Given the description of an element on the screen output the (x, y) to click on. 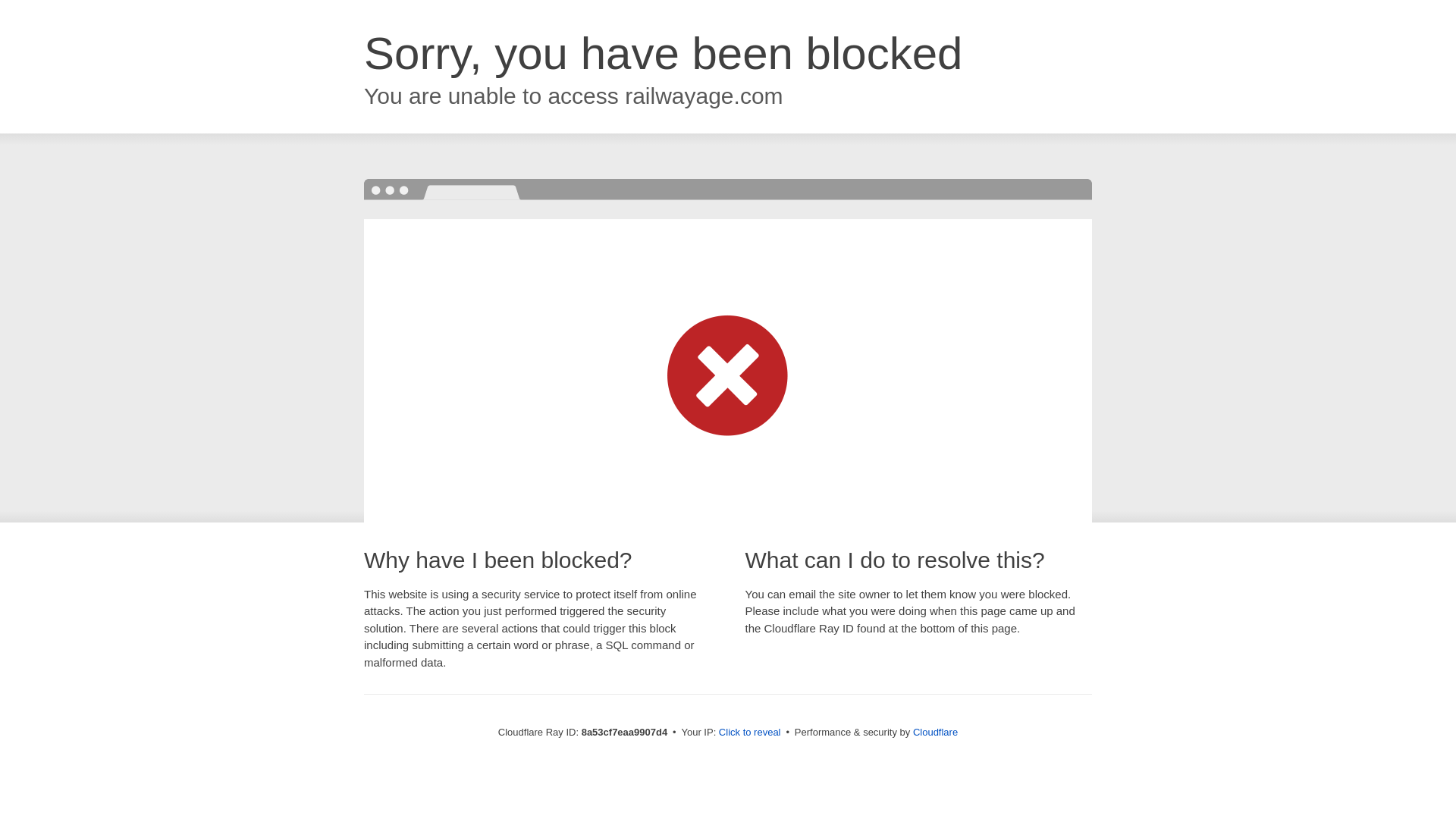
Click to reveal (749, 732)
Cloudflare (935, 731)
